Given the description of an element on the screen output the (x, y) to click on. 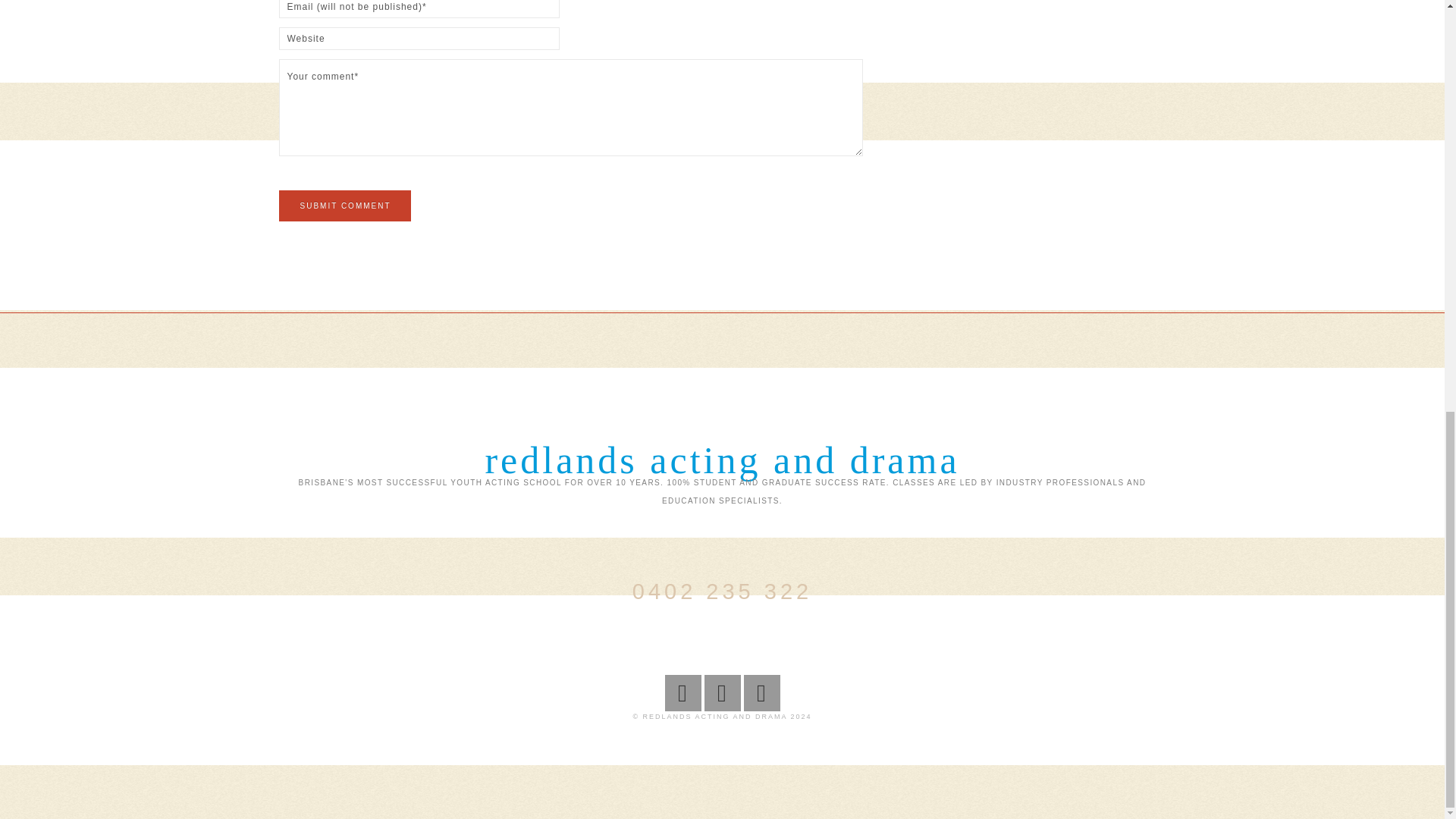
Submit Comment (344, 205)
Submit Comment (344, 205)
Website (419, 38)
